Given the description of an element on the screen output the (x, y) to click on. 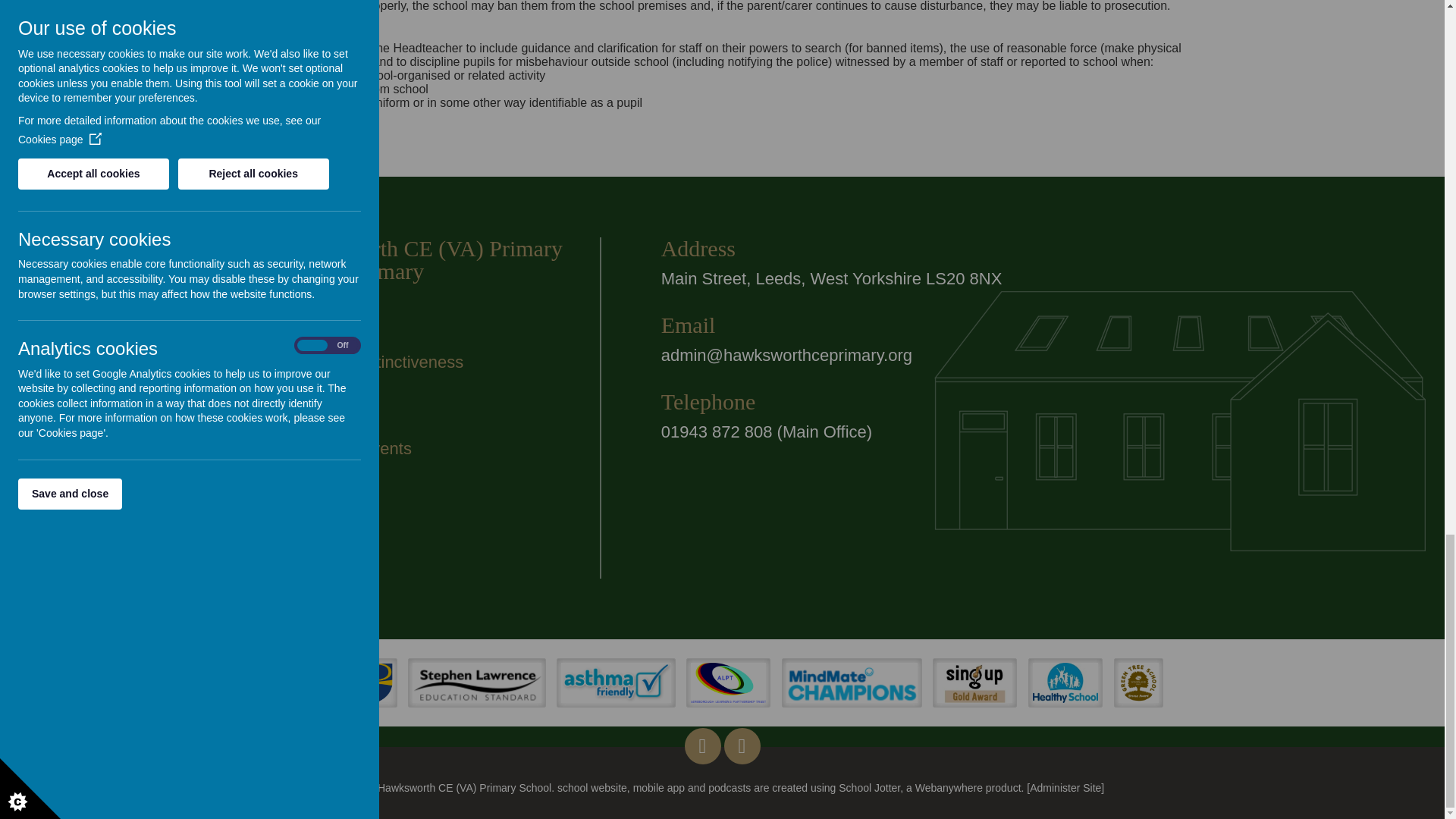
Instagram (741, 744)
Facebook (702, 744)
